Given the description of an element on the screen output the (x, y) to click on. 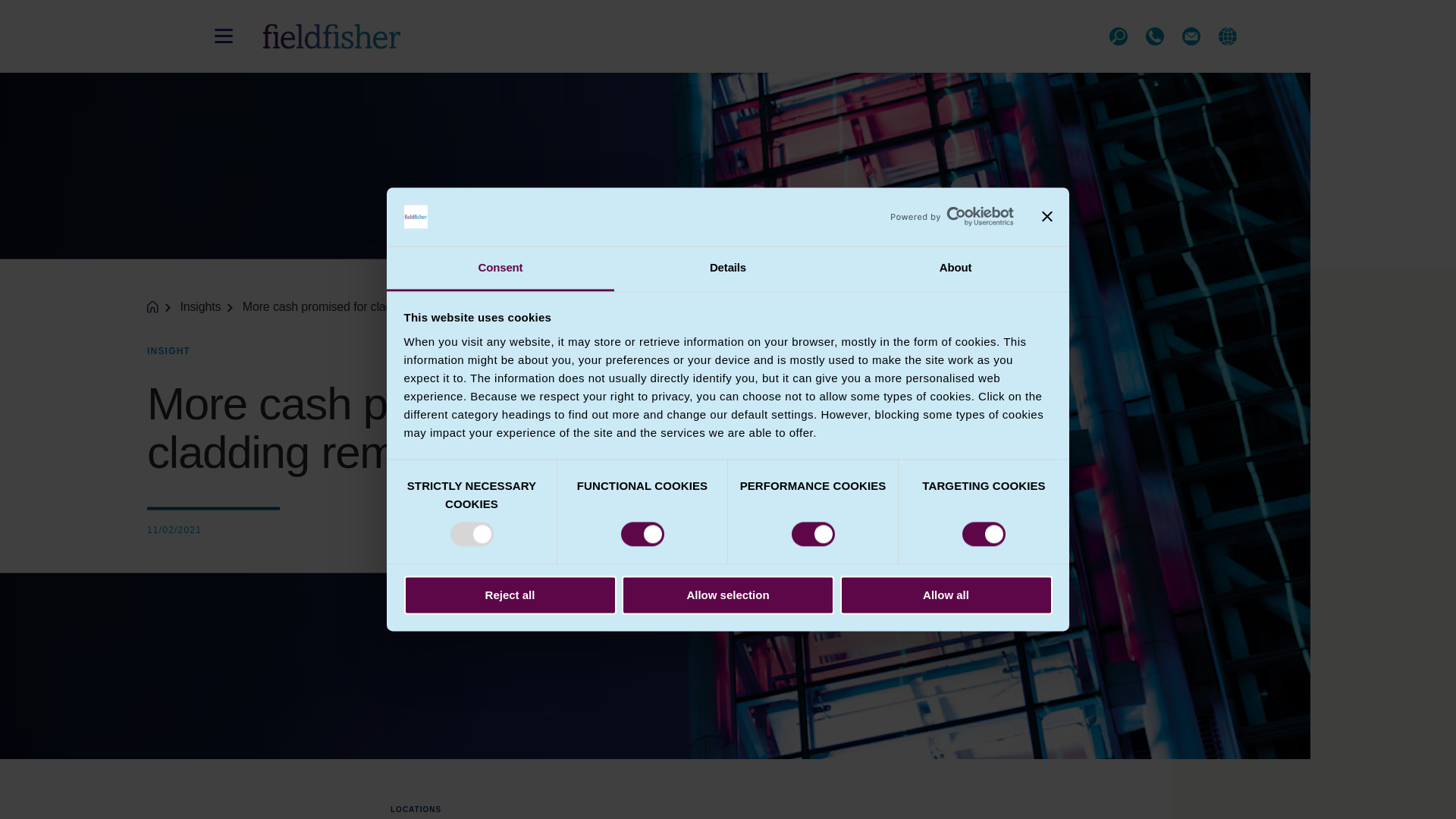
Consent (500, 268)
About (954, 268)
Details (727, 268)
